Given the description of an element on the screen output the (x, y) to click on. 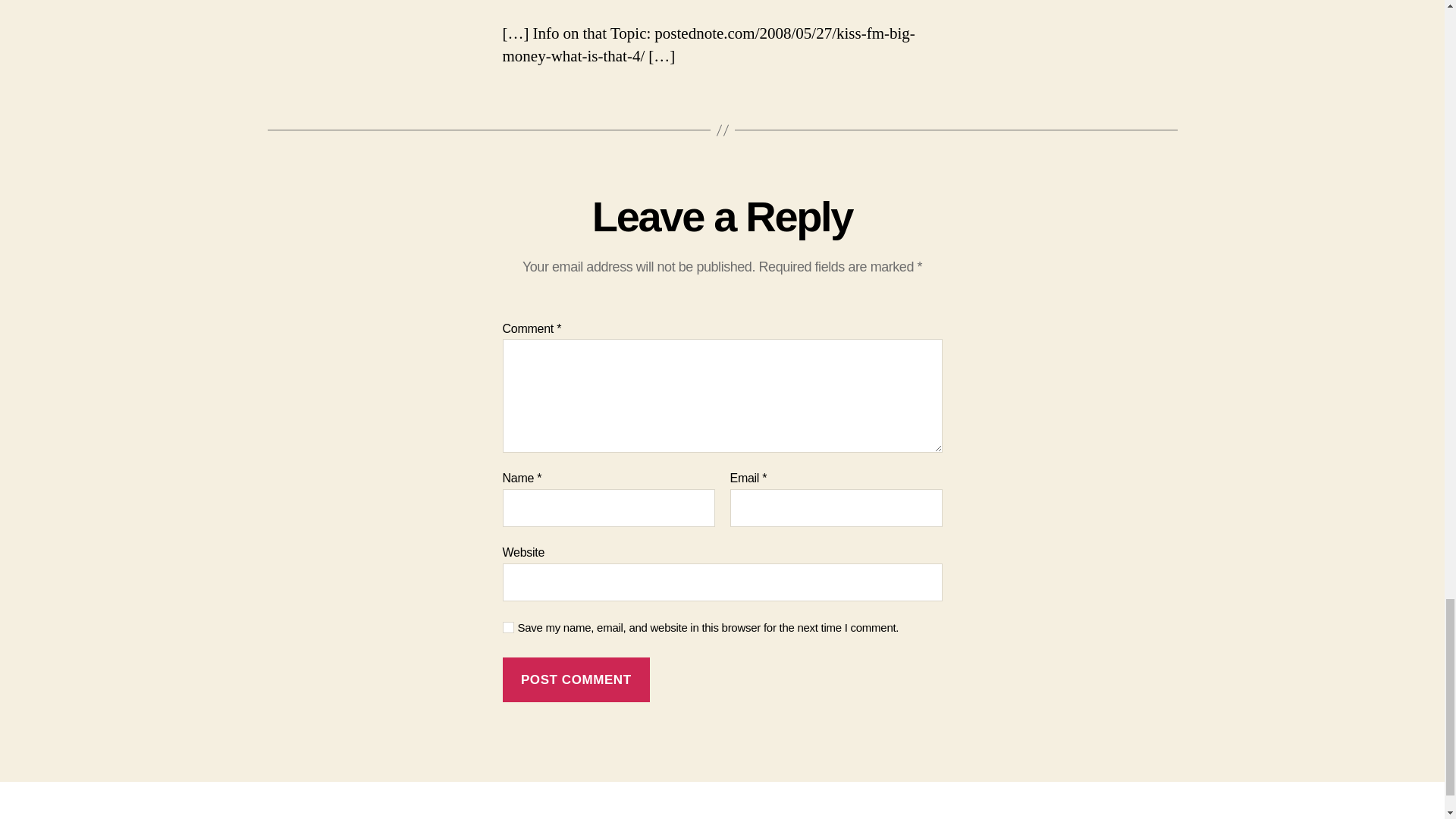
yes (507, 627)
Powered by WordPress (478, 817)
Post Comment (575, 679)
Posted Note (352, 817)
Post Comment (575, 679)
